Given the description of an element on the screen output the (x, y) to click on. 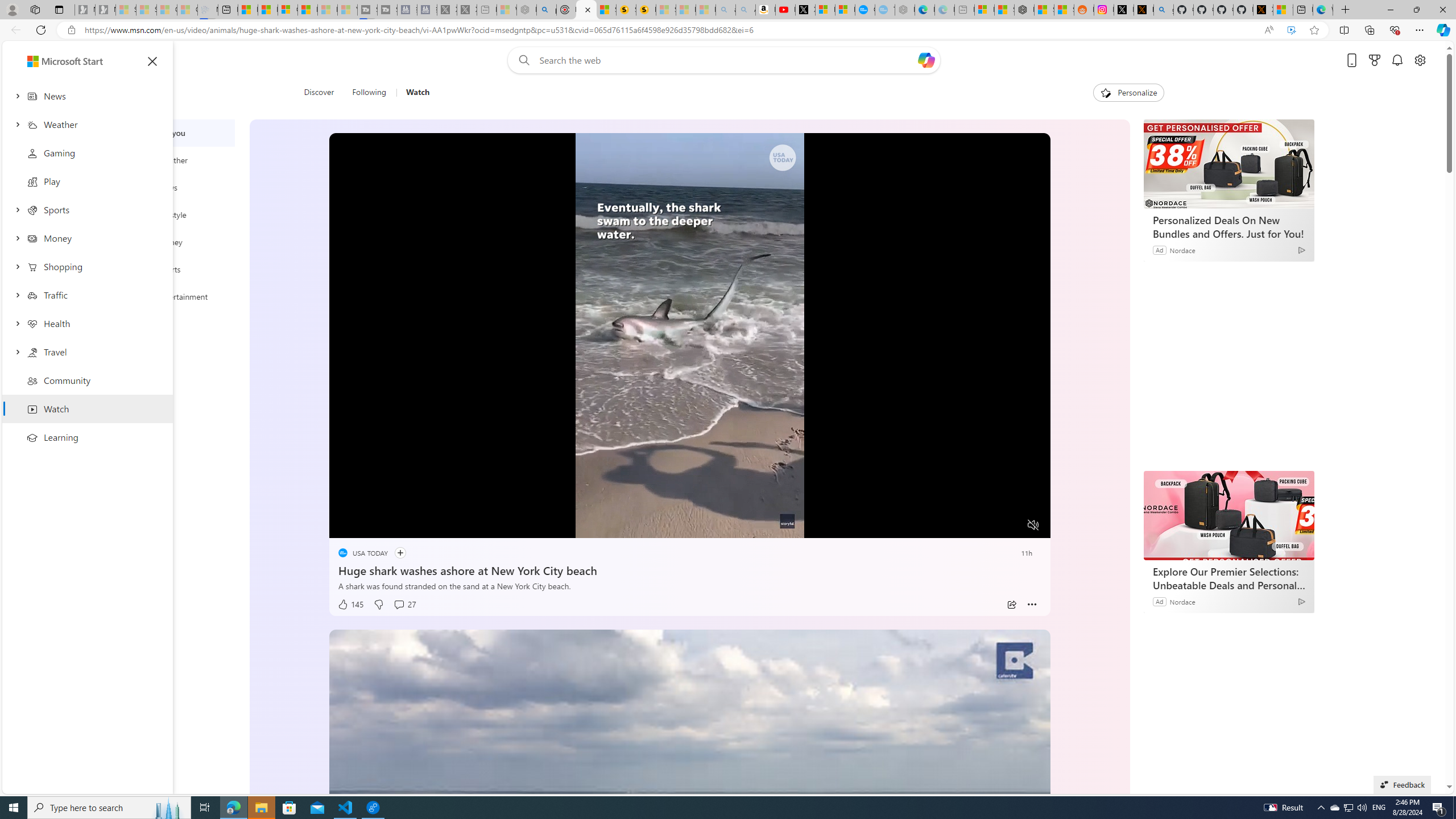
Huge shark washes ashore at New York City beach (689, 568)
Overview (287, 9)
Michelle Starr, Senior Journalist at ScienceAlert (646, 9)
Microsoft Start (53, 60)
Feedback (1402, 784)
The most popular Google 'how to' searches - Sleeping (884, 9)
Share (1010, 604)
Microsoft account | Microsoft Account Privacy Settings (983, 9)
Microsoft Start - Sleeping (327, 9)
placeholder USA TODAY (362, 552)
Web search (520, 60)
